Given the description of an element on the screen output the (x, y) to click on. 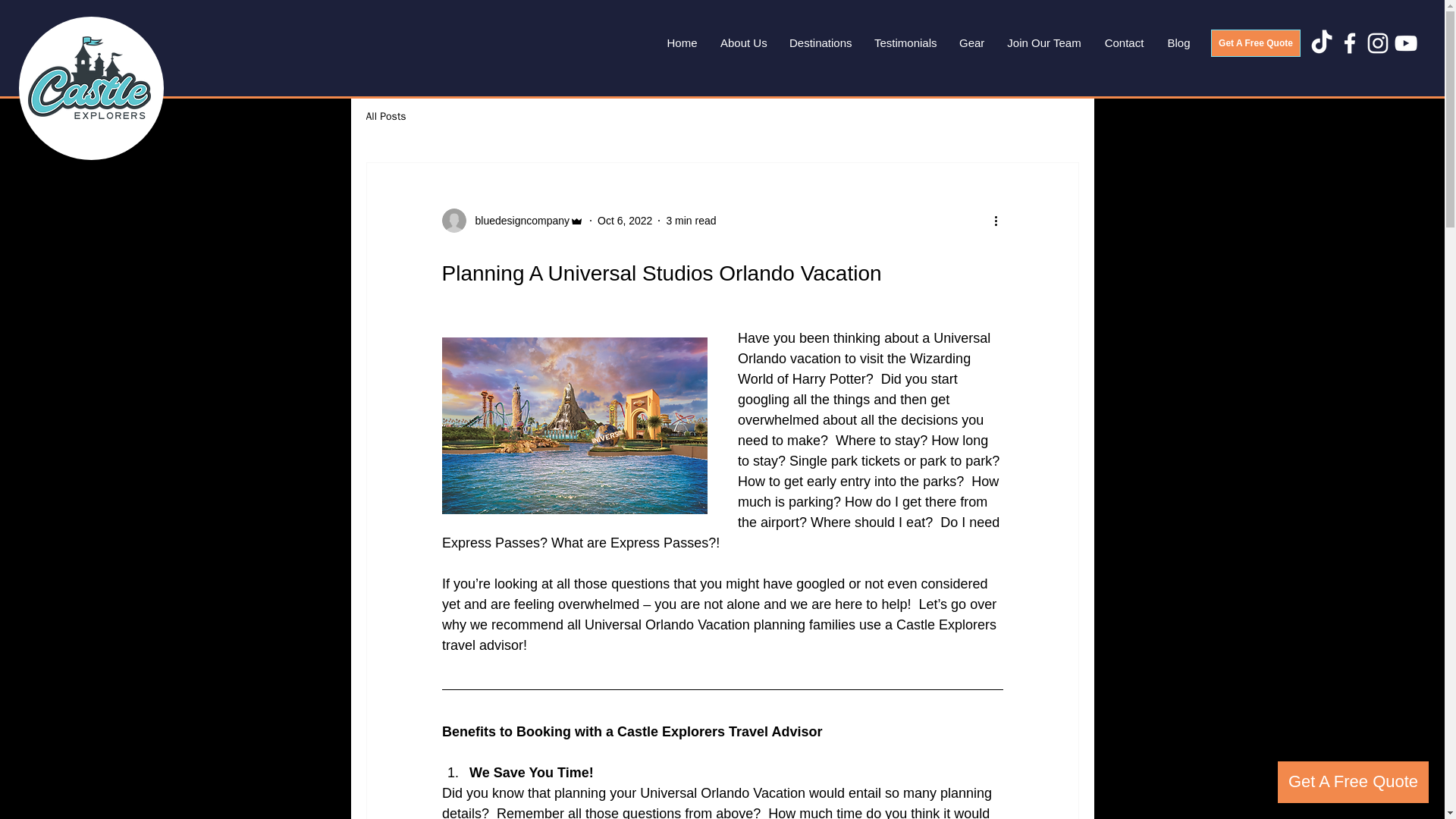
Oct 6, 2022 (624, 219)
bluedesigncompany (512, 220)
Contact (1124, 43)
Testimonials (905, 43)
All Posts (385, 116)
Get A Free Quote (1255, 42)
Gear (971, 43)
Blog (1179, 43)
Join Our Team (1044, 43)
3 min read (690, 219)
